Given the description of an element on the screen output the (x, y) to click on. 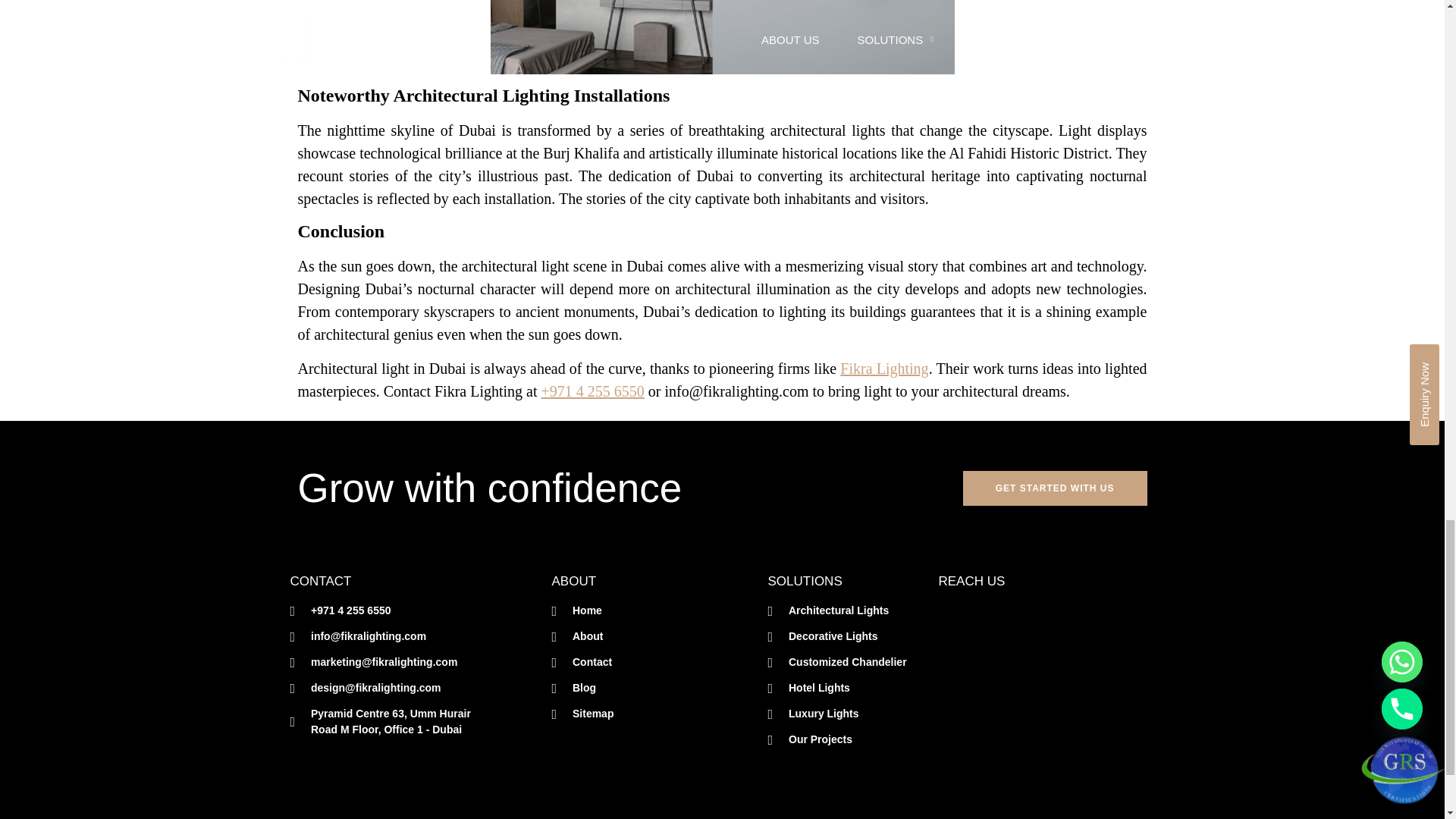
Fikra Lighting Solutions (1046, 710)
